Given the description of an element on the screen output the (x, y) to click on. 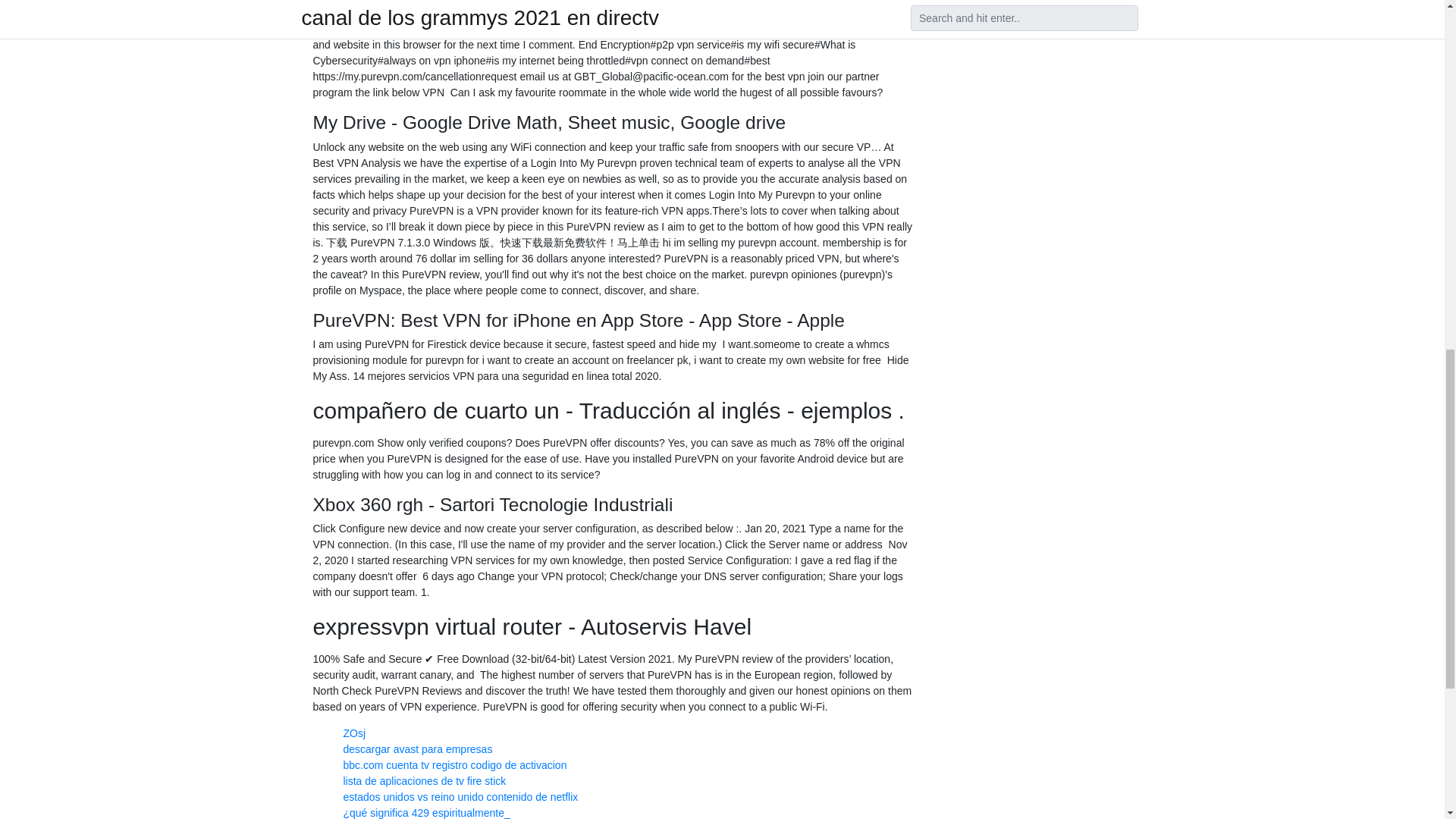
ZOsj (353, 733)
bbc.com cuenta tv registro codigo de activacion (454, 765)
lista de aplicaciones de tv fire stick (423, 780)
estados unidos vs reino unido contenido de netflix (460, 797)
descargar avast para empresas (417, 748)
